Given the description of an element on the screen output the (x, y) to click on. 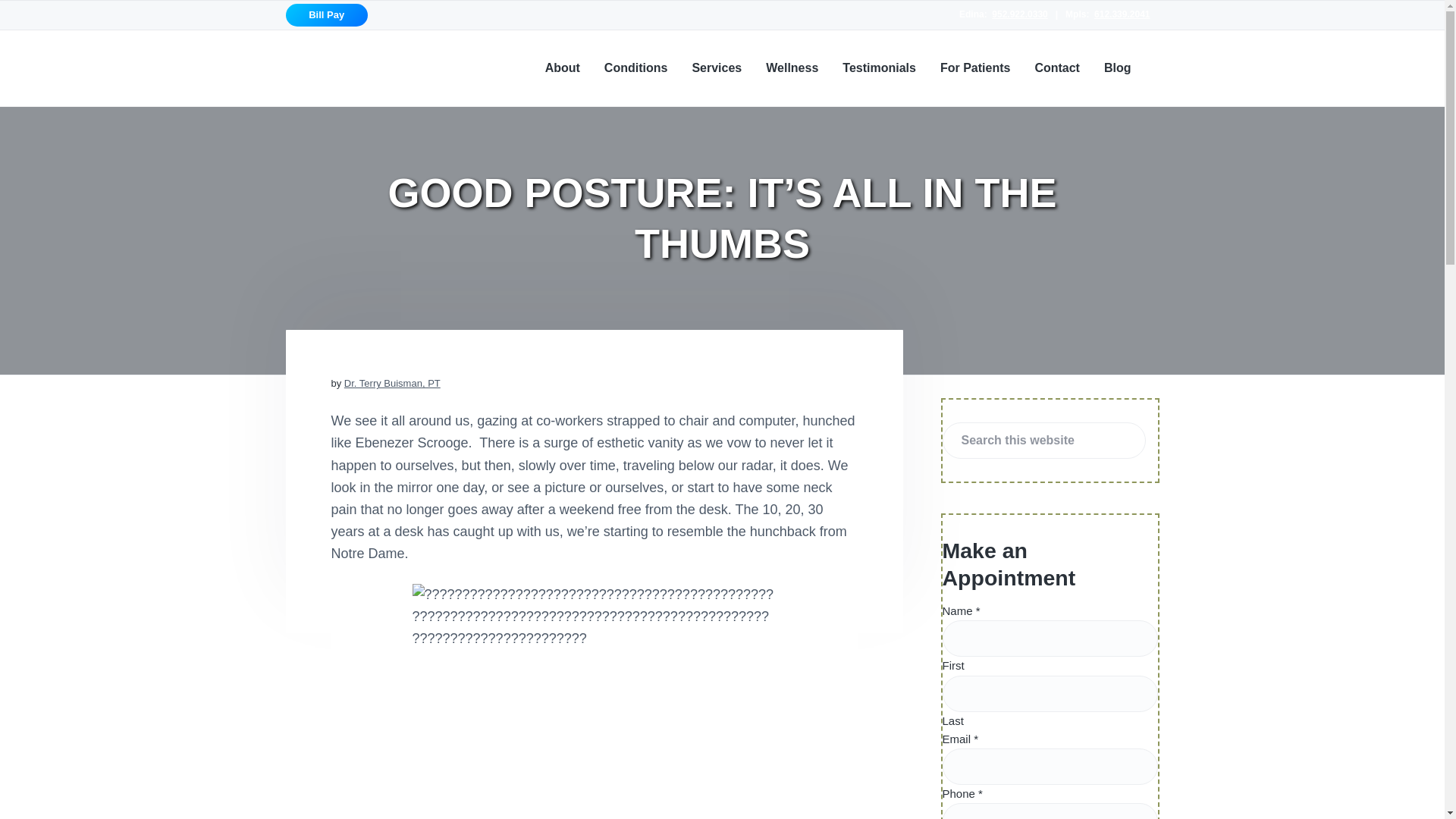
About (561, 67)
952.922.0330 (1018, 14)
Conditions (636, 67)
Bill Pay (325, 15)
612.339.2041 (1122, 14)
Services (716, 67)
